Given the description of an element on the screen output the (x, y) to click on. 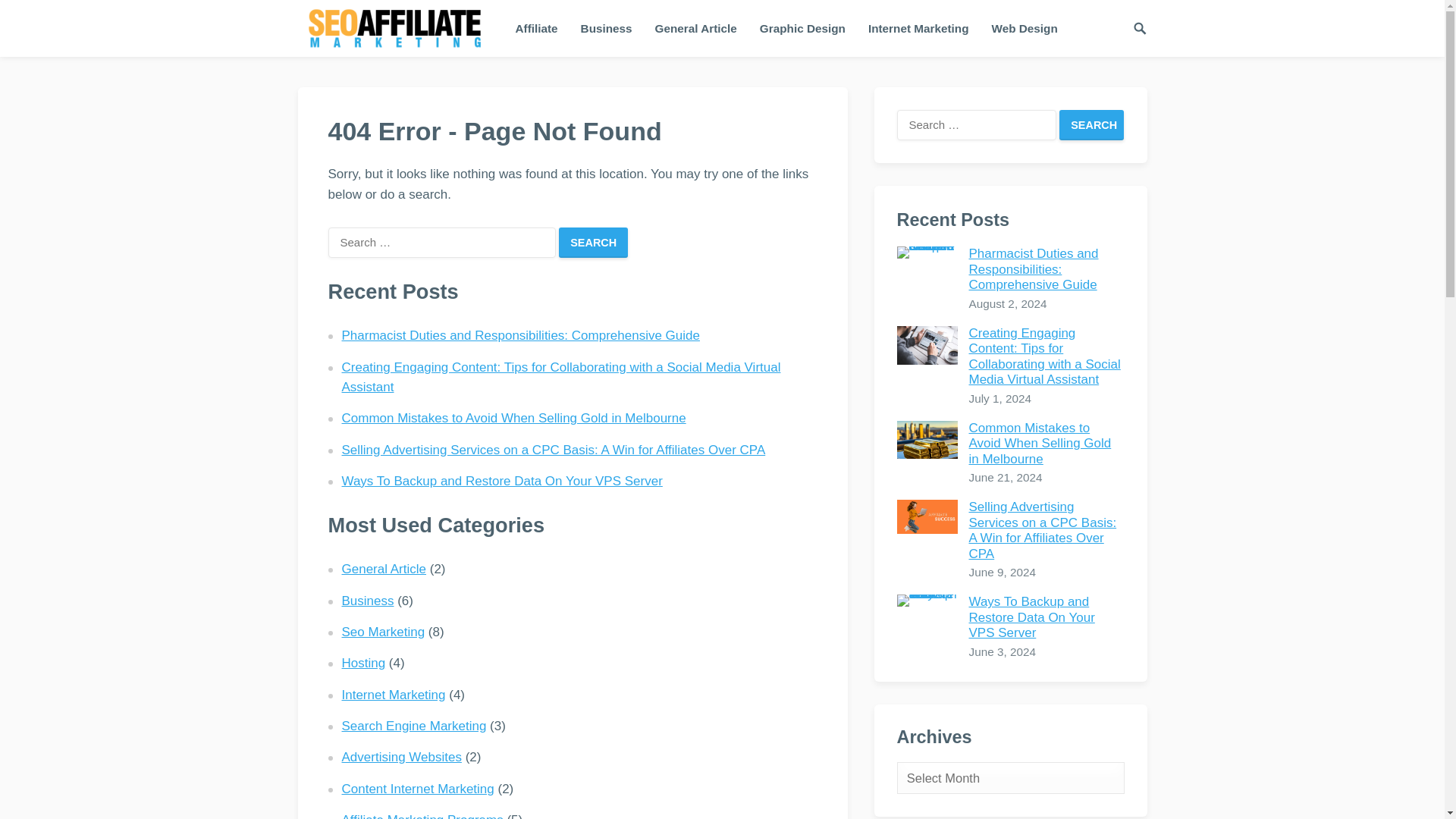
General Article (695, 28)
Search (1091, 124)
Affiliate (536, 28)
Search (593, 242)
Search (593, 242)
Web Design (1023, 28)
Graphic Design (802, 28)
Search (1091, 124)
